Given the description of an element on the screen output the (x, y) to click on. 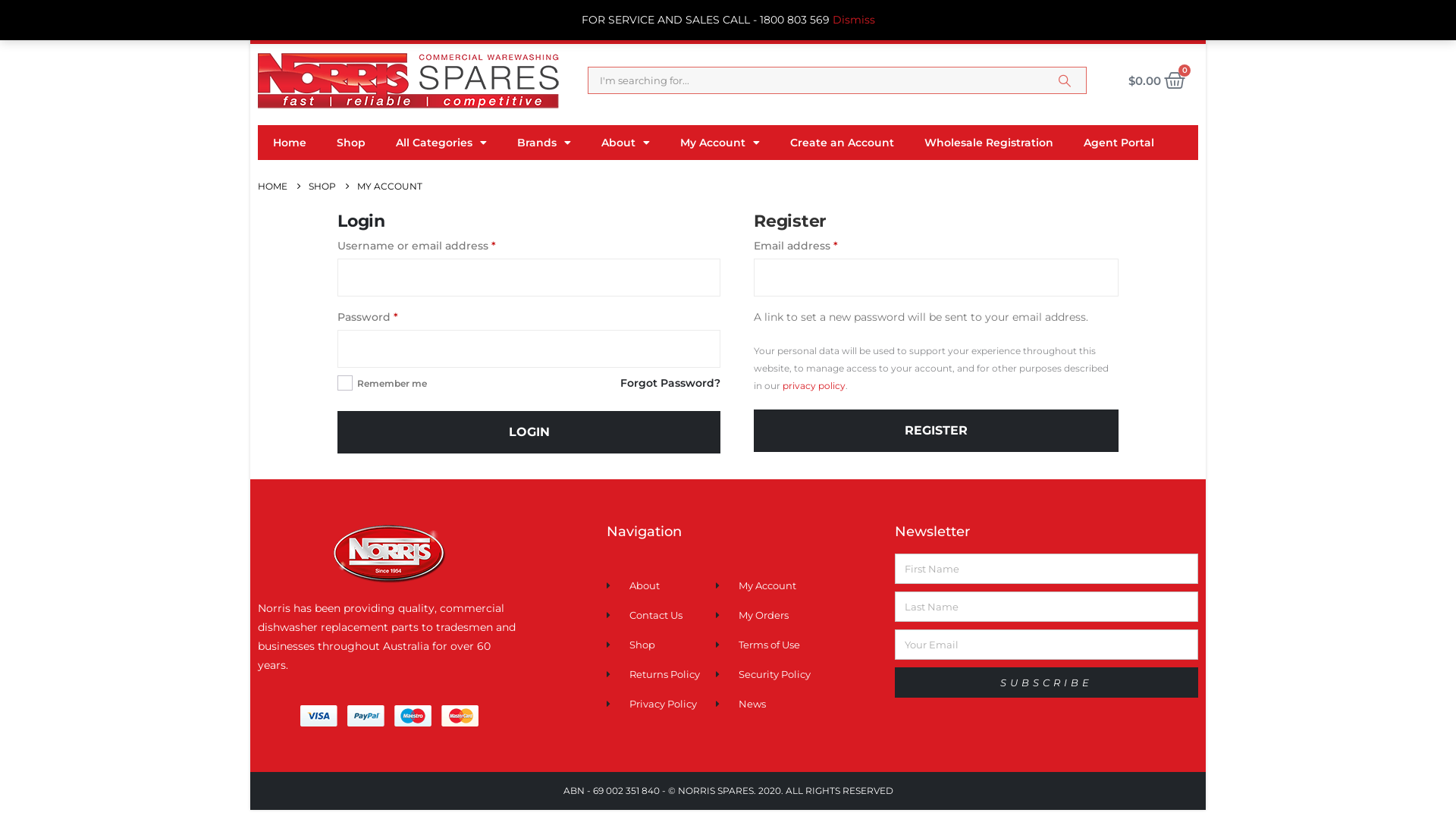
HOME Element type: text (272, 185)
Contact Us Element type: text (660, 614)
LOGIN Element type: text (528, 432)
Dismiss Element type: text (853, 19)
Brands Element type: text (544, 142)
Shop Element type: text (660, 644)
About Element type: text (625, 142)
Security Policy Element type: text (797, 674)
$0.00
0 Element type: text (1157, 80)
My Account Element type: text (797, 585)
SHOP Element type: text (321, 185)
SUBSCRIBE Element type: text (1046, 682)
News Element type: text (797, 703)
Home Element type: text (289, 142)
Wholesale Registration Element type: text (988, 142)
Agent Portal Element type: text (1118, 142)
Forgot Password? Element type: text (670, 382)
All Categories Element type: text (441, 142)
Create an Account Element type: text (842, 142)
privacy policy Element type: text (813, 385)
My Account Element type: text (720, 142)
Terms of Use Element type: text (797, 644)
Returns Policy Element type: text (660, 674)
REGISTER Element type: text (935, 430)
Search Element type: hover (1064, 80)
Privacy Policy Element type: text (660, 703)
Shop Element type: text (350, 142)
My Orders Element type: text (797, 614)
About Element type: text (660, 585)
